Given the description of an element on the screen output the (x, y) to click on. 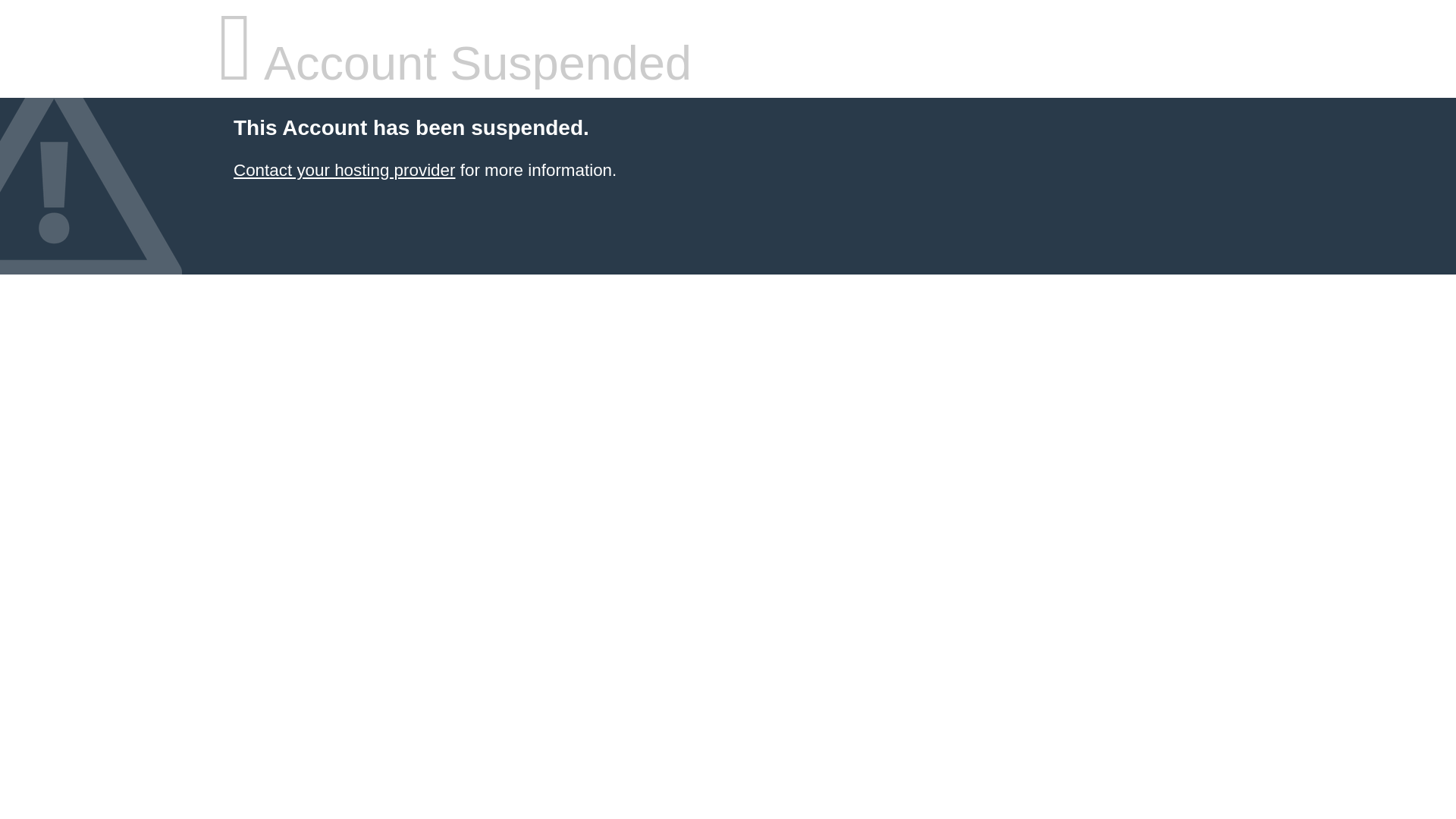
Contact your hosting provider (343, 169)
